Given the description of an element on the screen output the (x, y) to click on. 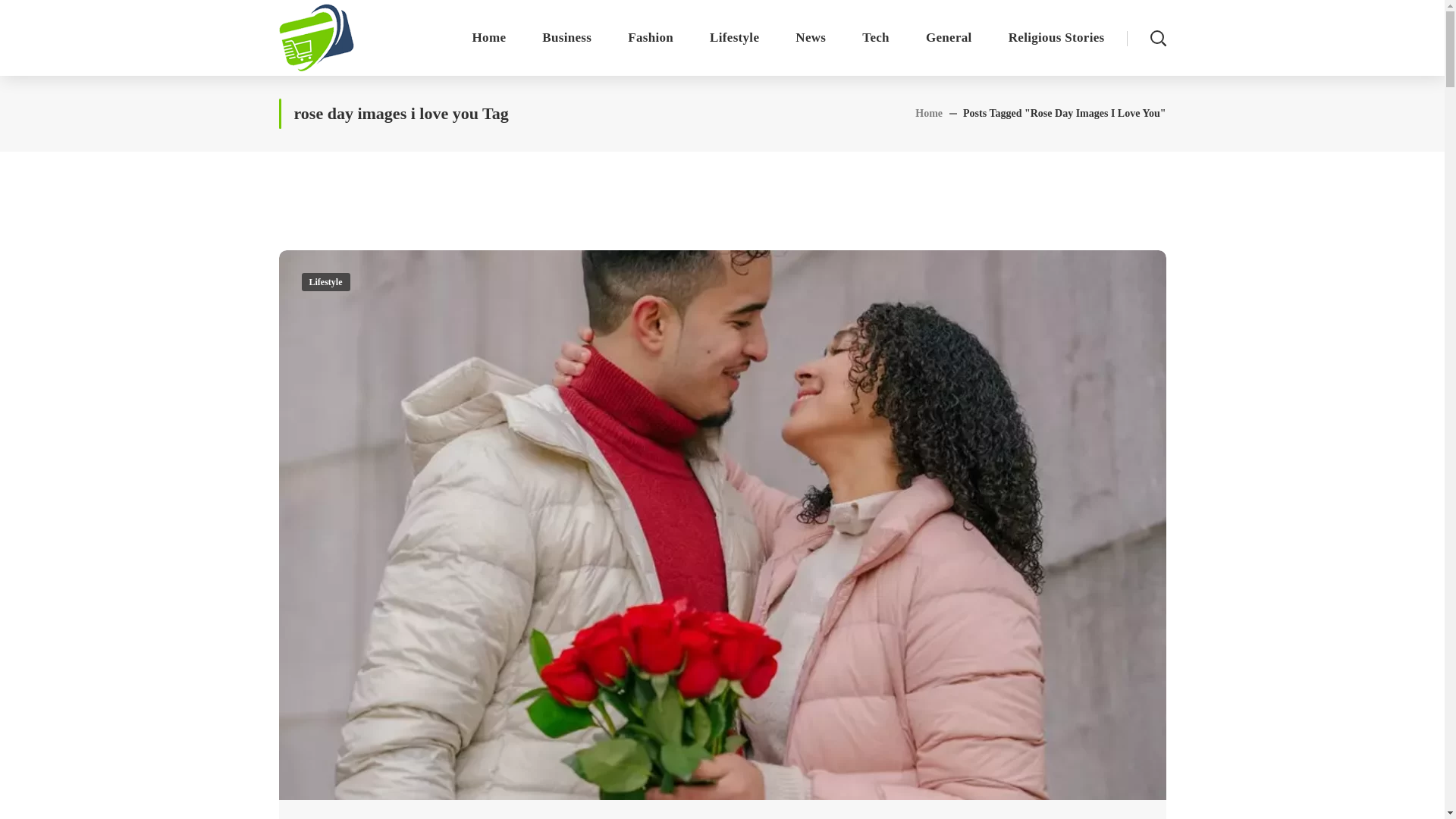
Home (489, 38)
Lifestyle (734, 38)
Tech (875, 38)
Religious Stories (1056, 38)
Search (1110, 121)
News (810, 38)
General (948, 38)
Search (1110, 45)
Business (567, 38)
Fashion (650, 38)
